Given the description of an element on the screen output the (x, y) to click on. 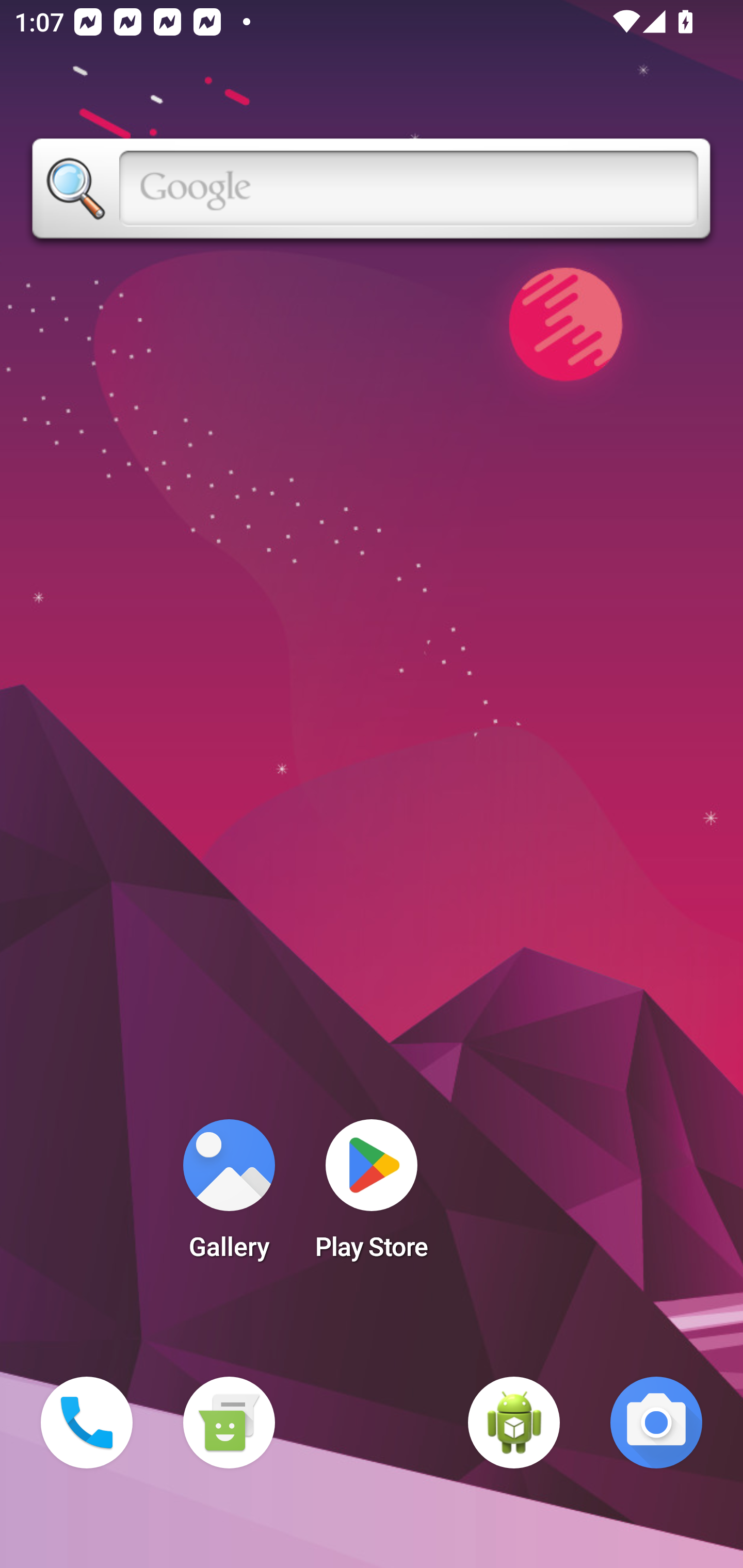
Gallery (228, 1195)
Play Store (371, 1195)
Phone (86, 1422)
Messaging (228, 1422)
WebView Browser Tester (513, 1422)
Camera (656, 1422)
